Given the description of an element on the screen output the (x, y) to click on. 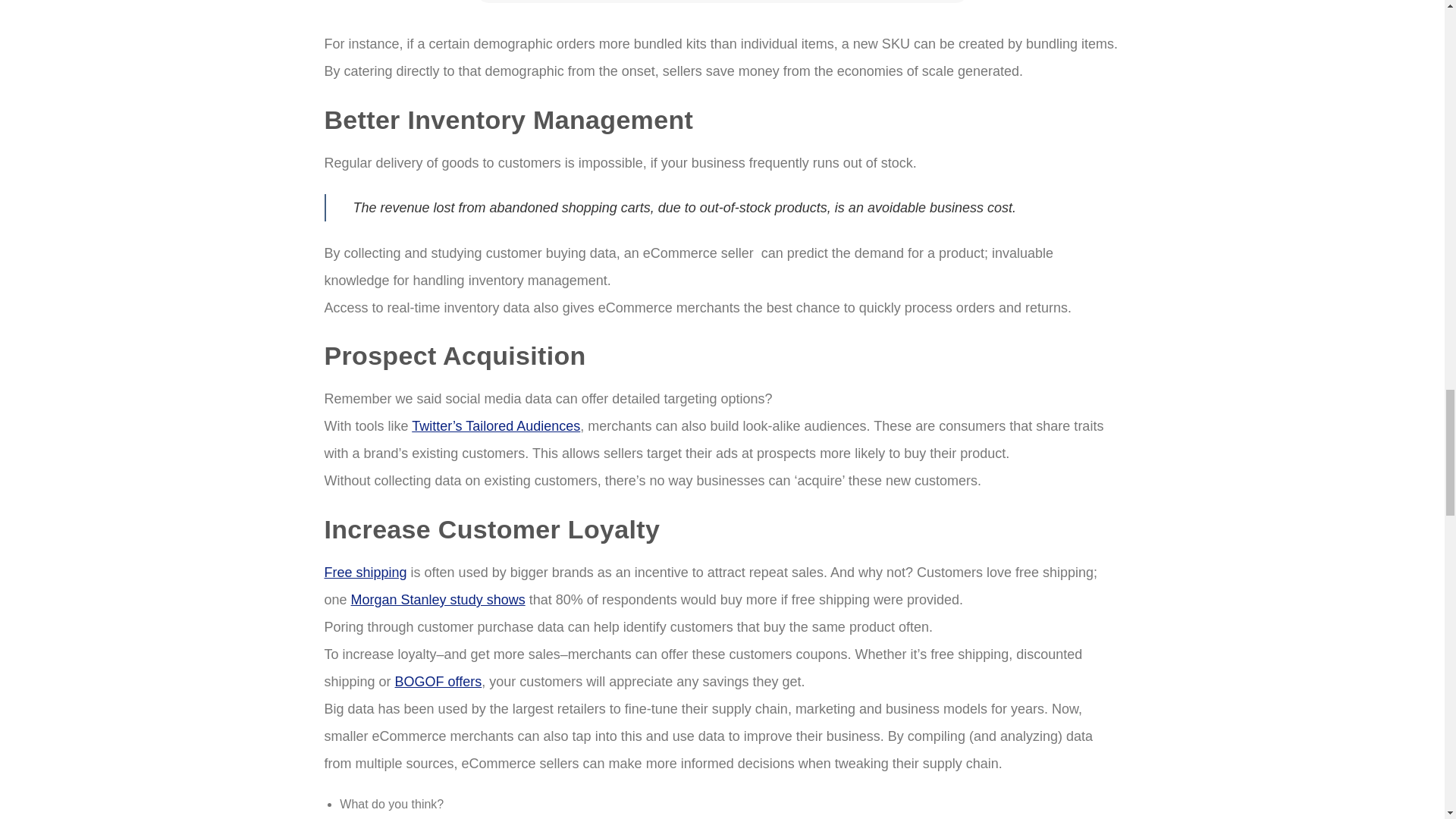
Morgan Stanley study shows (437, 599)
Free shipping (365, 572)
BOGOF offers (437, 681)
